Given the description of an element on the screen output the (x, y) to click on. 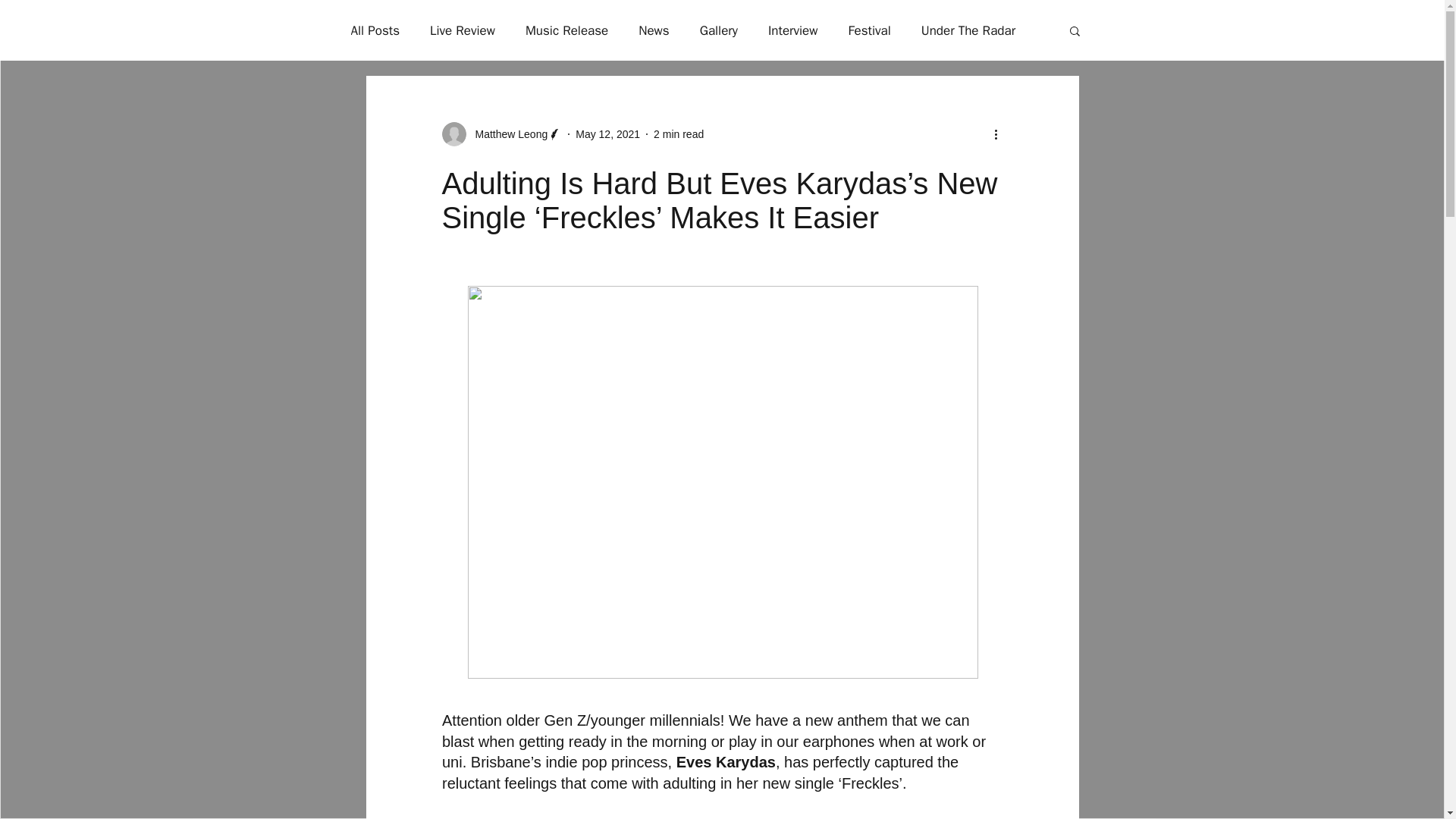
Under The Radar (967, 29)
Matthew Leong (506, 133)
Matthew Leong (501, 134)
Interview (793, 29)
May 12, 2021 (607, 133)
2 min read (678, 133)
Music Release (566, 29)
Festival (868, 29)
News (653, 29)
All Posts (374, 29)
